Given the description of an element on the screen output the (x, y) to click on. 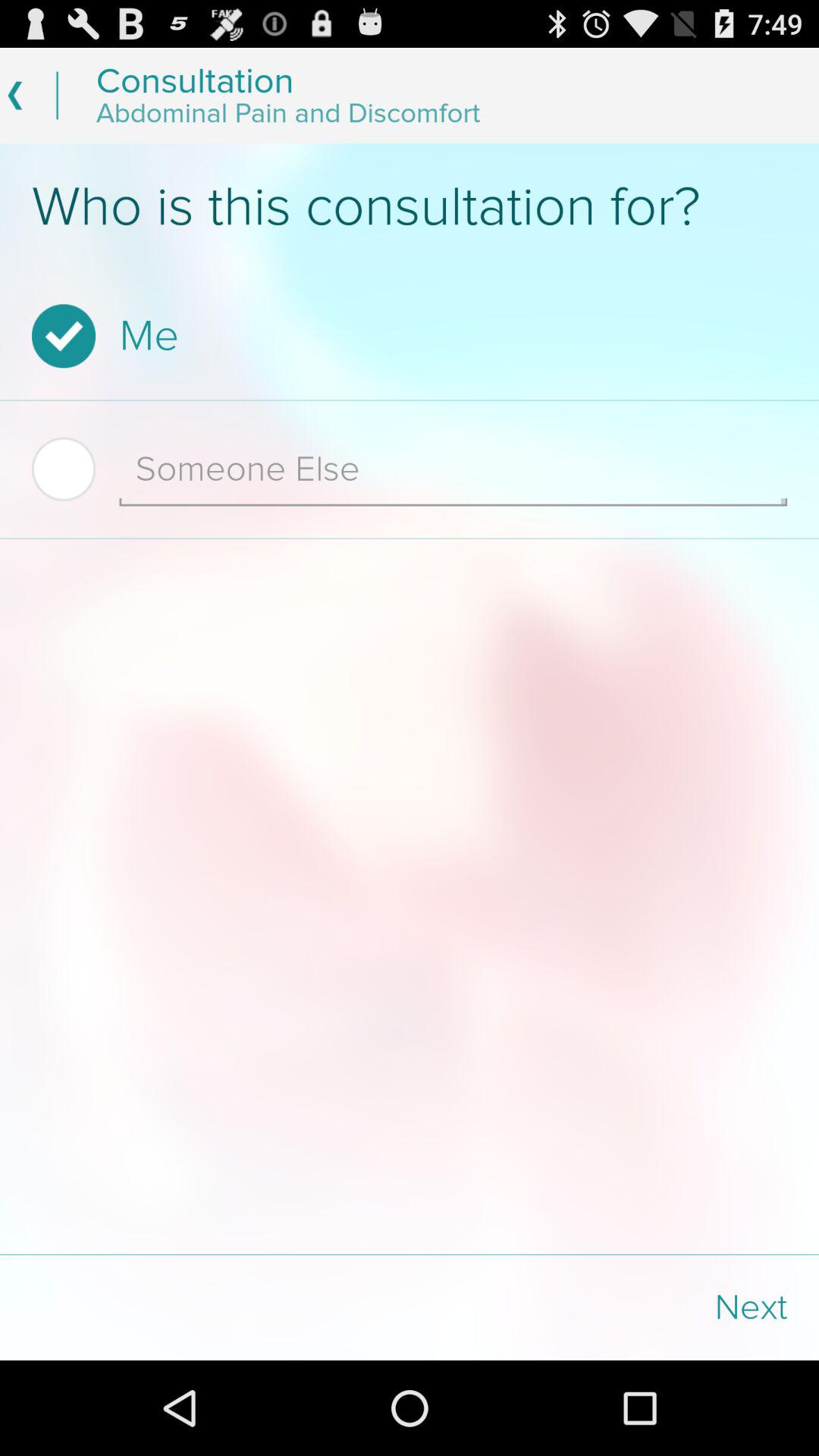
tap the me checkbox (405, 335)
